Given the description of an element on the screen output the (x, y) to click on. 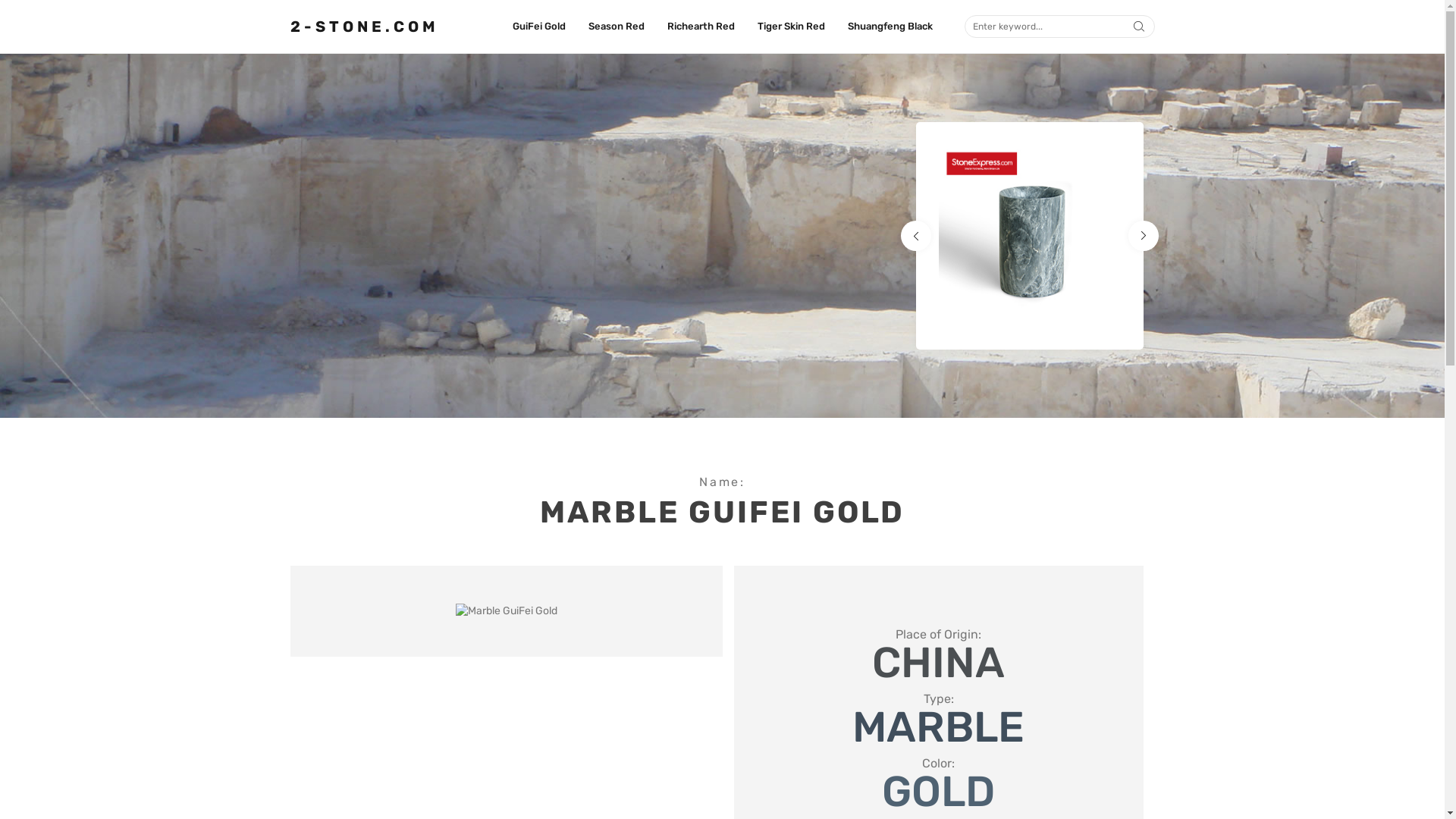
CHINA Element type: text (938, 662)
2-STONE.COM Element type: text (363, 26)
GuiFei Gold Element type: text (538, 26)
GOLD Element type: text (937, 791)
Tiger Skin Red Element type: text (790, 26)
Season Red Element type: text (616, 26)
Shuangfeng Black Element type: text (889, 26)
MARBLE Element type: text (938, 727)
Richearth Red Element type: text (700, 26)
Marble GuiFei Gold Element type: hover (505, 610)
